Given the description of an element on the screen output the (x, y) to click on. 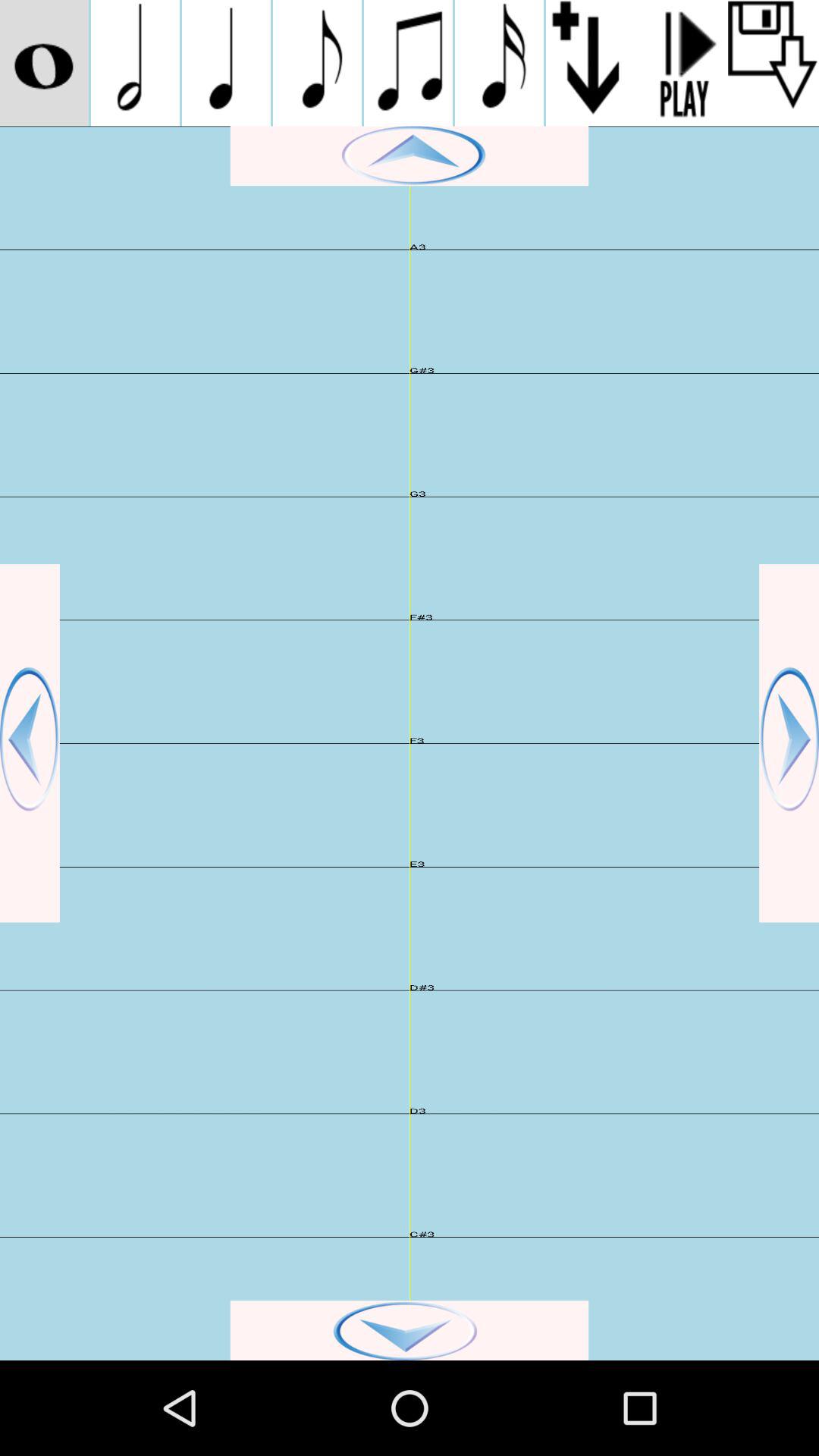
music note (408, 63)
